Given the description of an element on the screen output the (x, y) to click on. 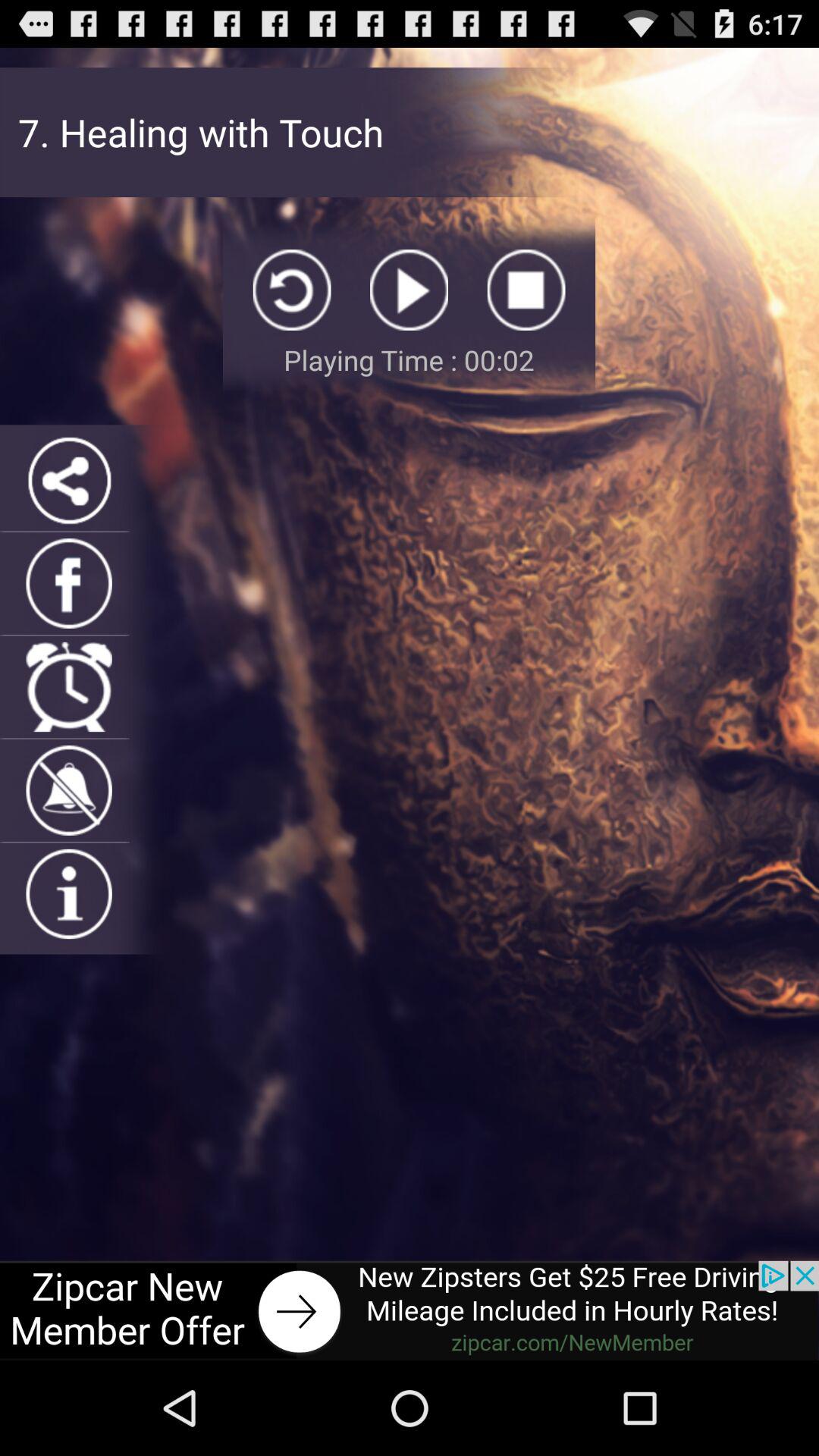
open facebook app (69, 583)
